Given the description of an element on the screen output the (x, y) to click on. 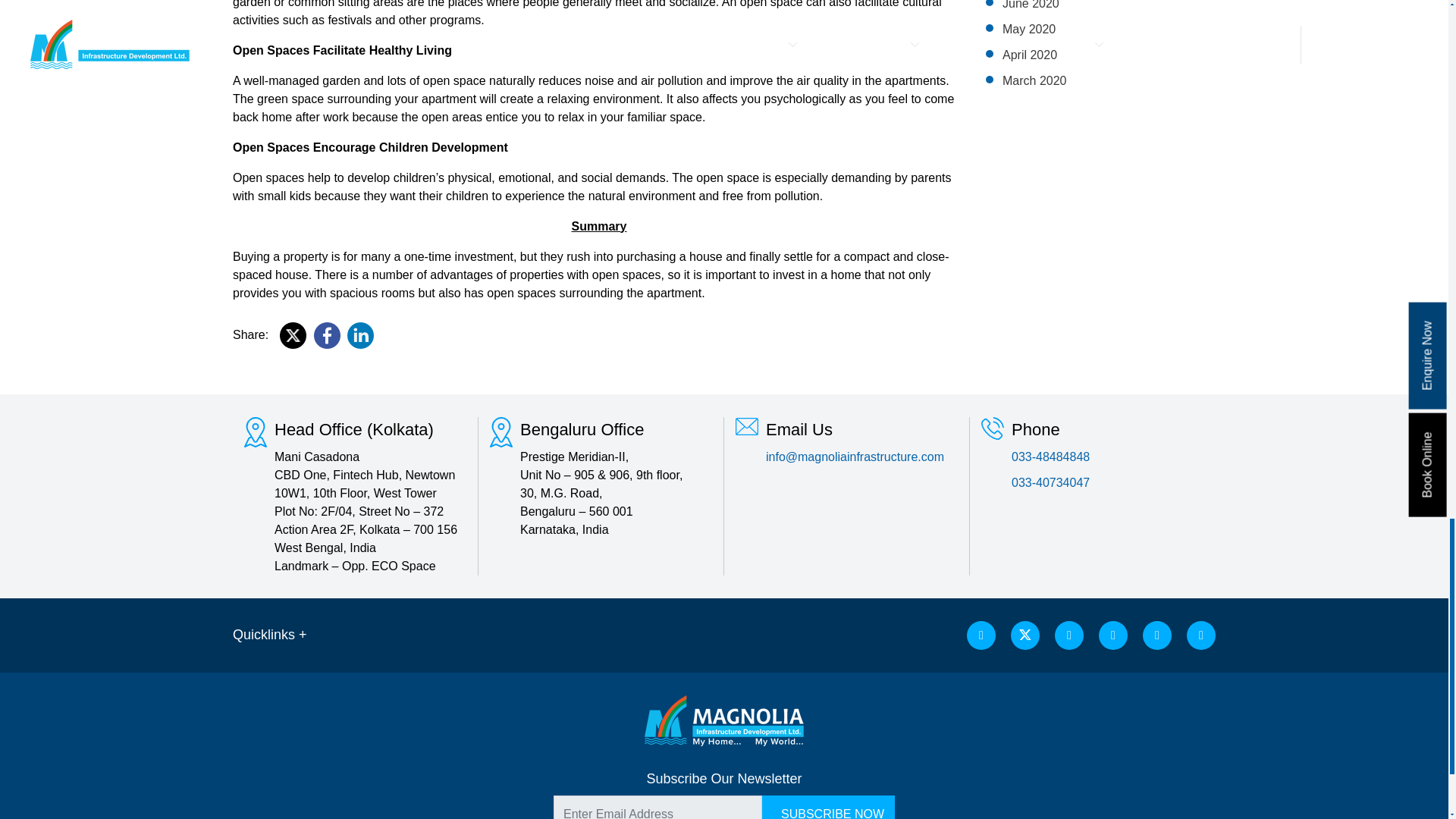
Share on Facebook (327, 335)
Subscribe now (828, 807)
